Given the description of an element on the screen output the (x, y) to click on. 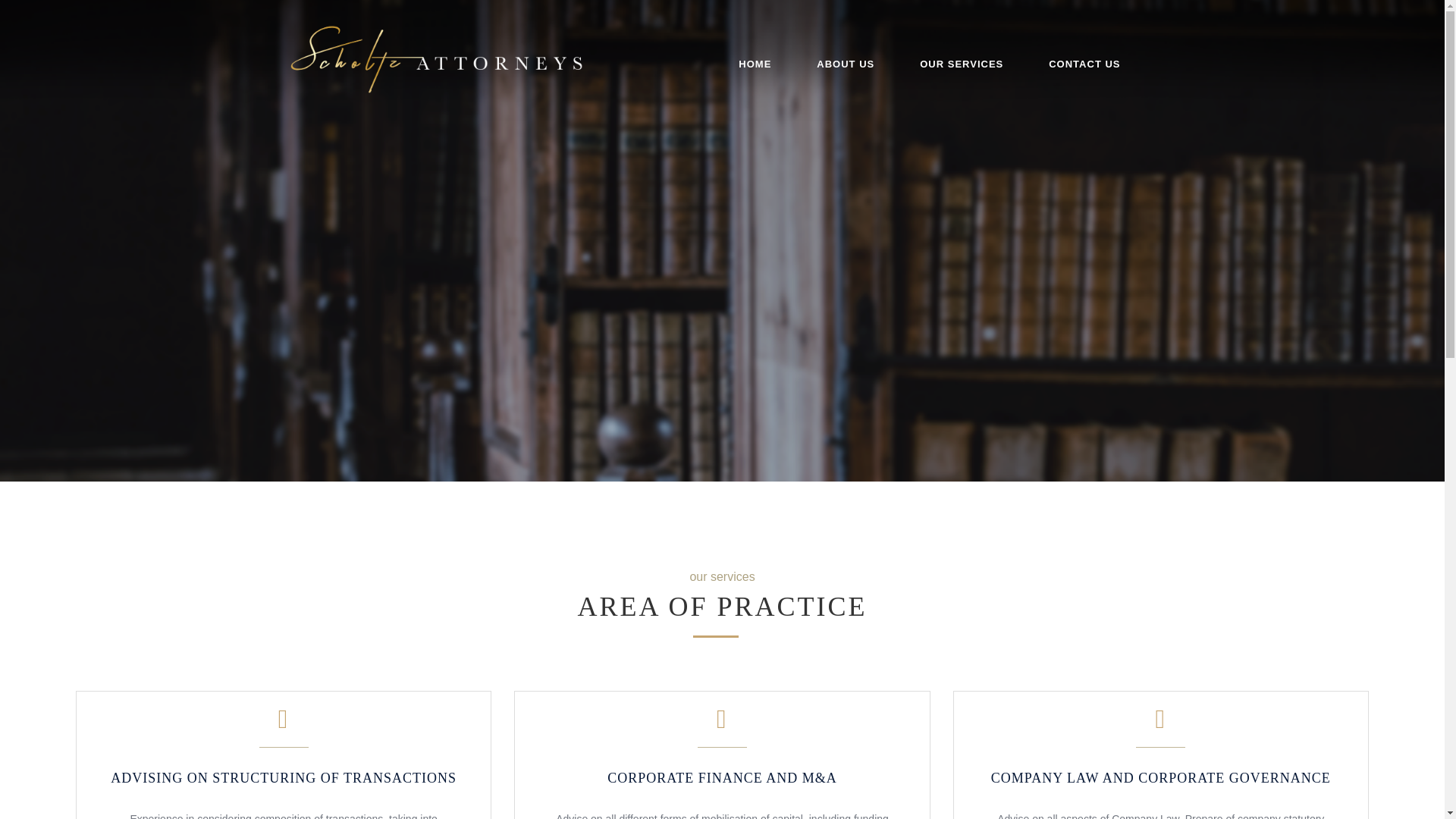
ADVISING ON STRUCTURING OF TRANSACTIONS (283, 770)
CONTACT US (1084, 64)
ABOUT US (844, 64)
HOME (754, 64)
COMPANY LAW AND CORPORATE GOVERNANCE (1160, 770)
OUR SERVICES (961, 64)
